Given the description of an element on the screen output the (x, y) to click on. 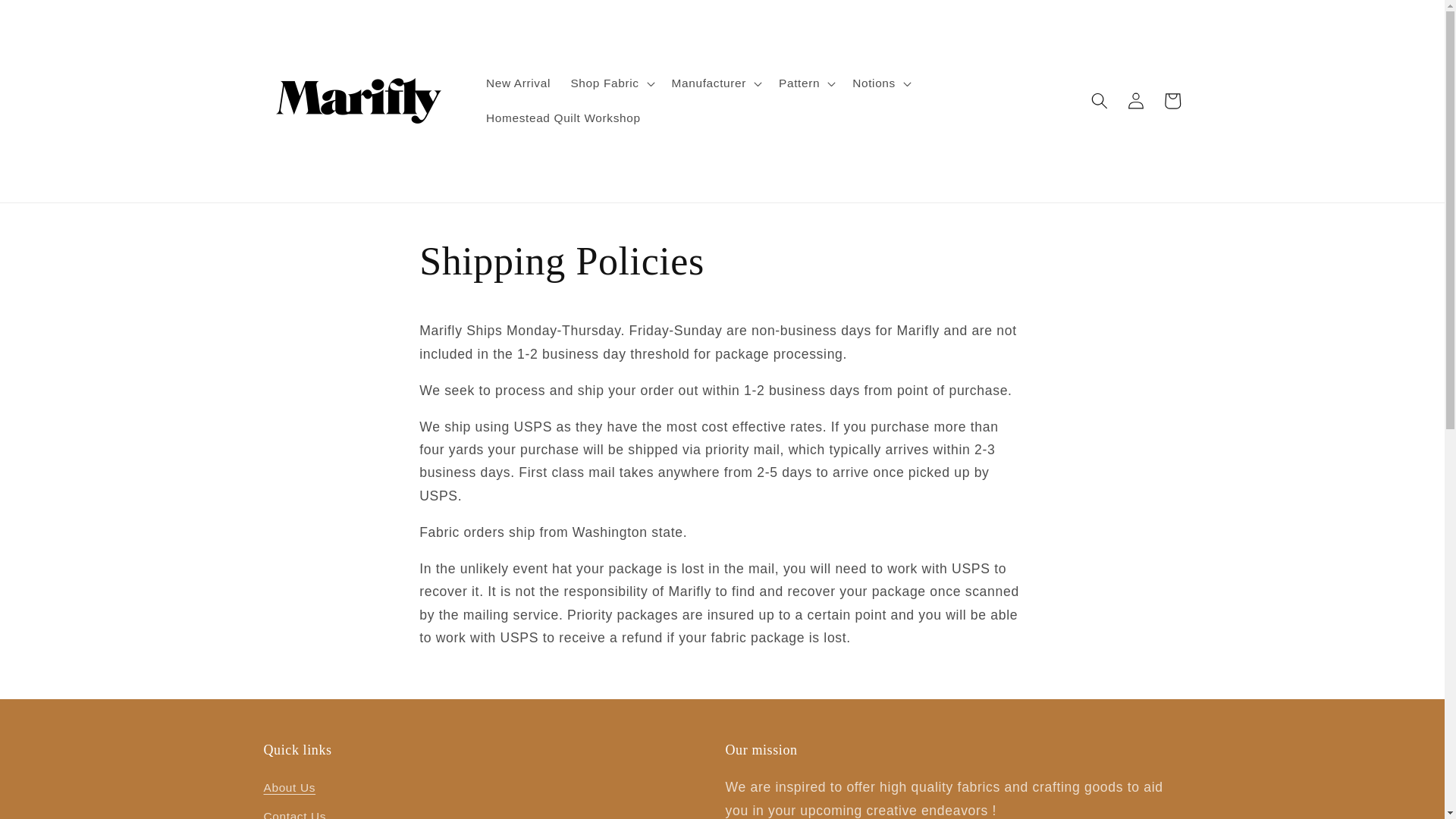
Skip to content (50, 19)
